Given the description of an element on the screen output the (x, y) to click on. 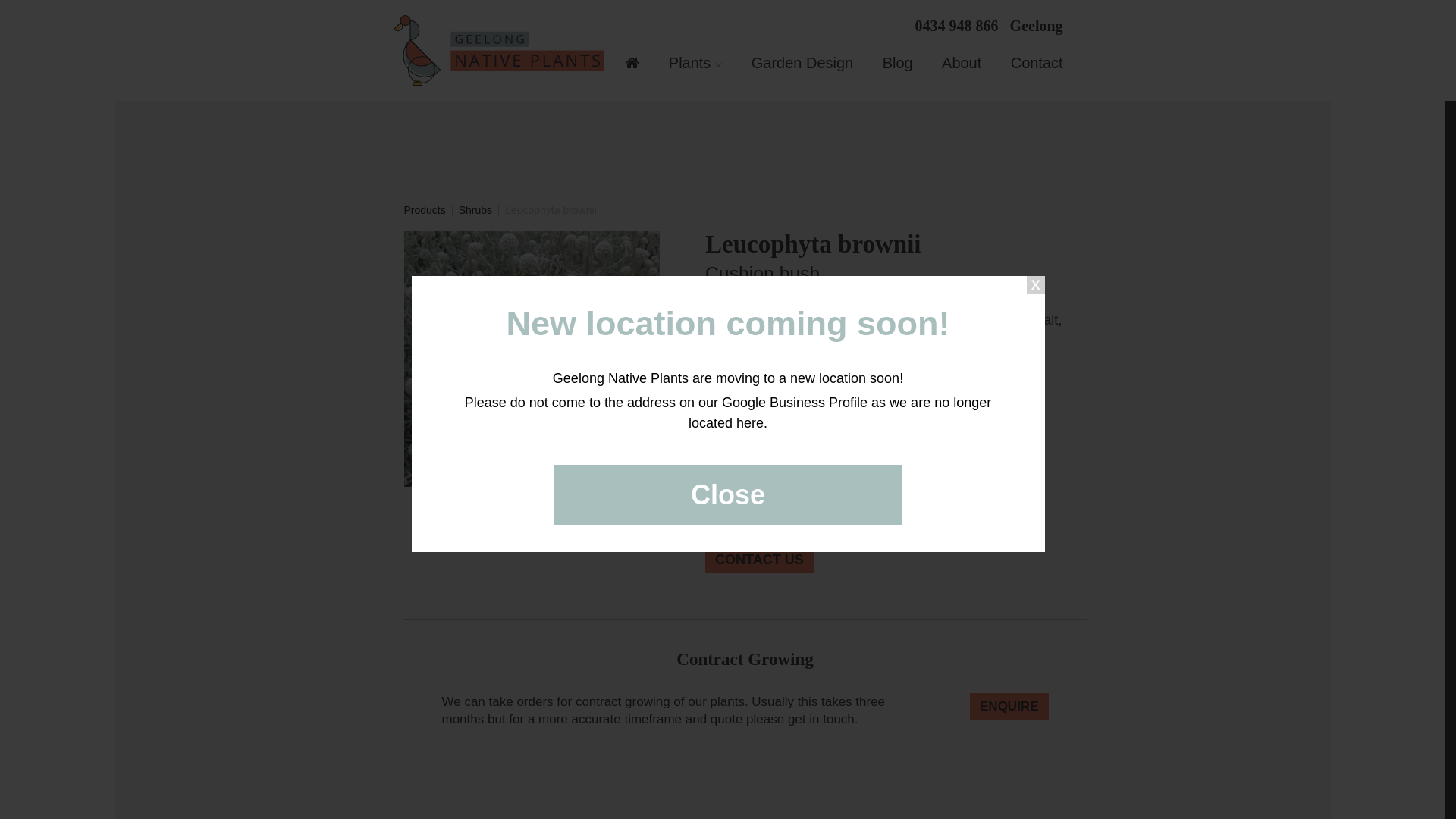
Products Element type: text (424, 209)
Home Element type: text (631, 65)
Contact Element type: text (1036, 62)
Plants Element type: text (695, 62)
Blog Element type: text (897, 62)
ENQUIRE Element type: text (1008, 706)
CONTACT US Element type: text (759, 559)
About Element type: text (961, 62)
Garden Design Element type: text (802, 62)
Shrubs Element type: text (475, 209)
